Given the description of an element on the screen output the (x, y) to click on. 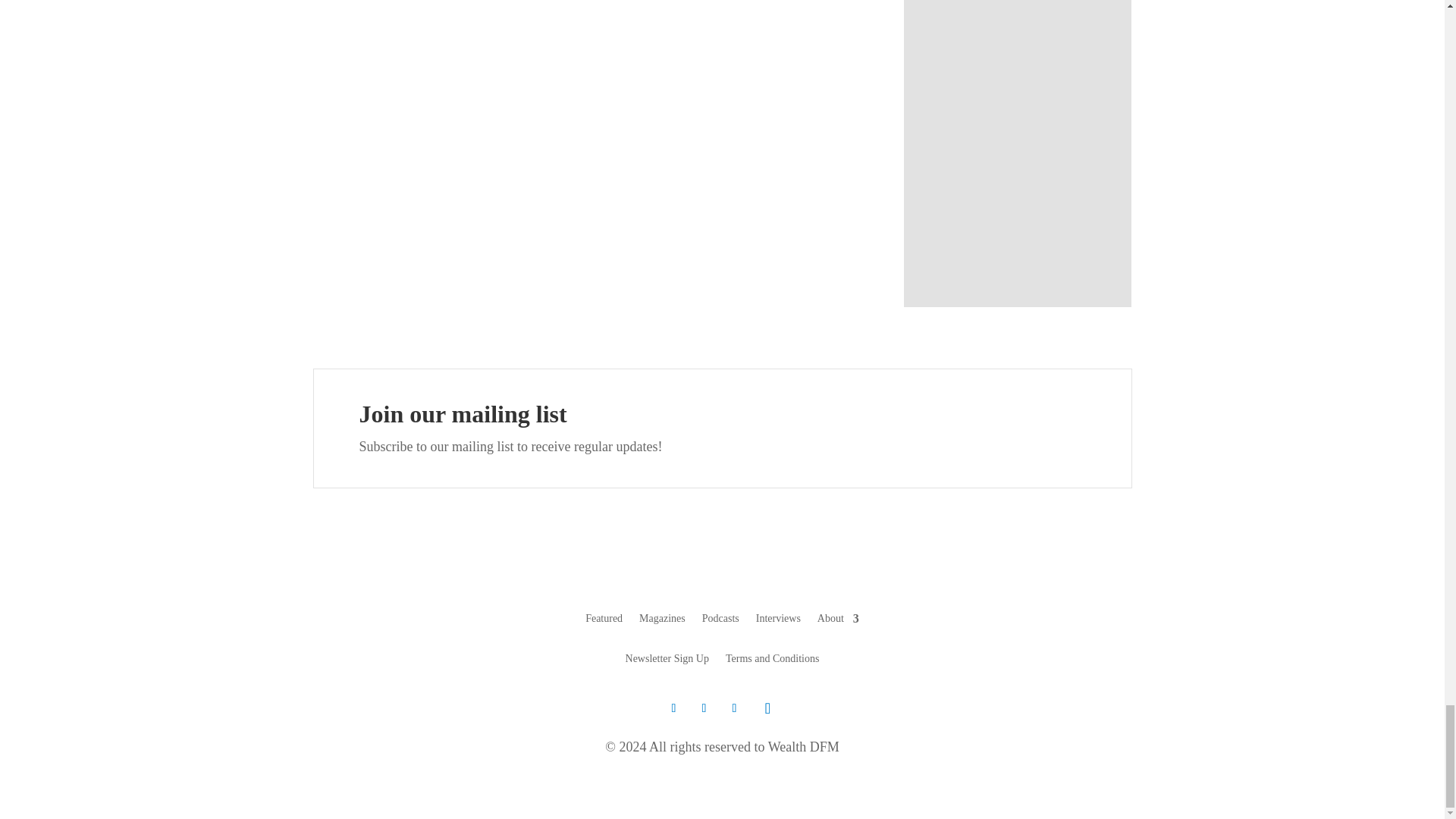
Follow on Instagram (767, 707)
Follow on X (673, 708)
Follow on Facebook (703, 708)
Follow on LinkedIn (733, 708)
Newsletter Sign Up (667, 661)
Terms and Conditions (771, 661)
